Given the description of an element on the screen output the (x, y) to click on. 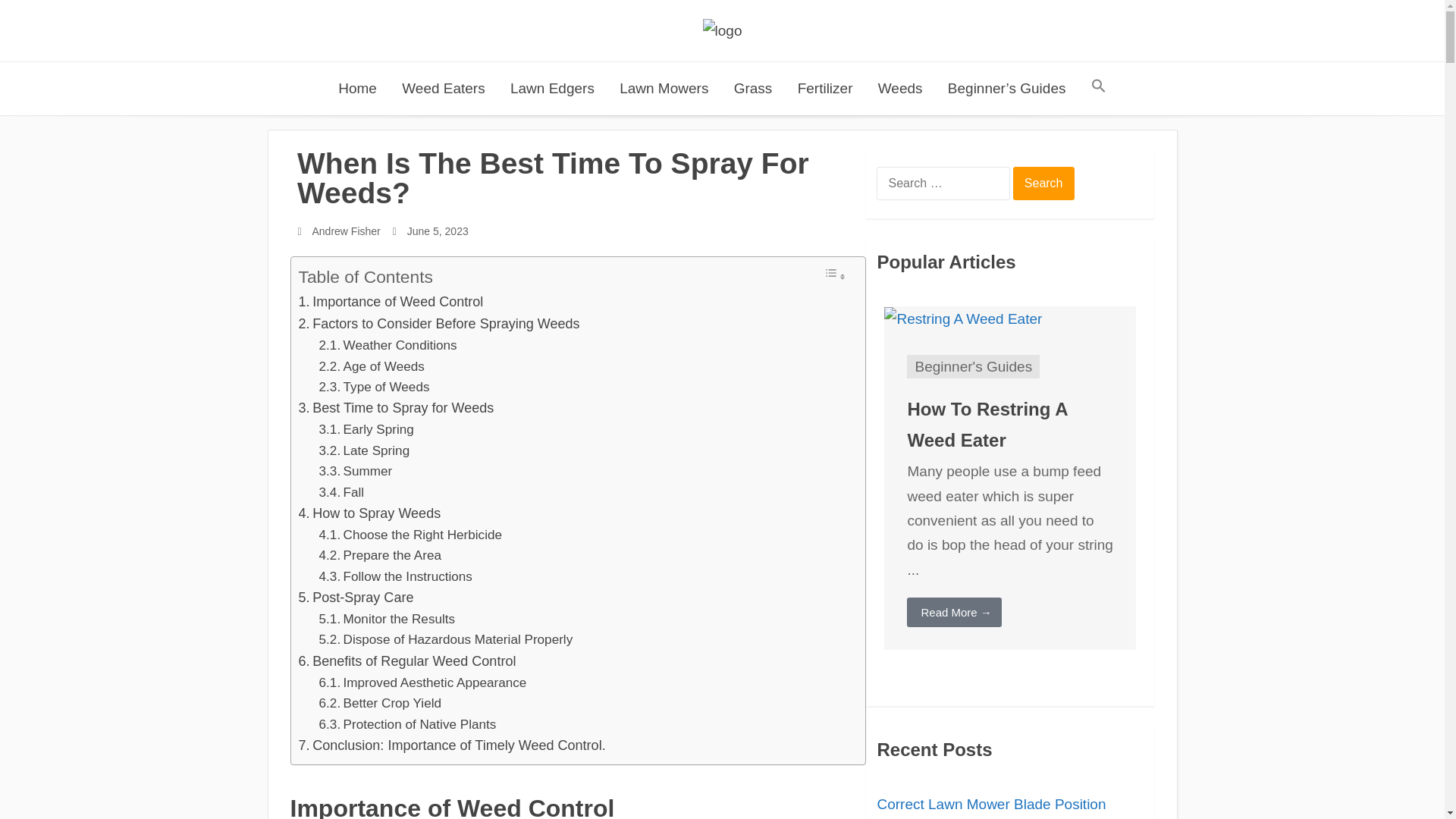
Choose the Right Herbicide (410, 534)
Summer (355, 471)
Lawn Mowers (663, 88)
Protection of Native Plants (407, 724)
Weeds (900, 88)
Factors to Consider Before Spraying Weeds (438, 323)
Grass (753, 88)
Improved Aesthetic Appearance (422, 682)
How to Spray Weeds (369, 513)
Best Time to Spray for Weeds (396, 408)
